Given the description of an element on the screen output the (x, y) to click on. 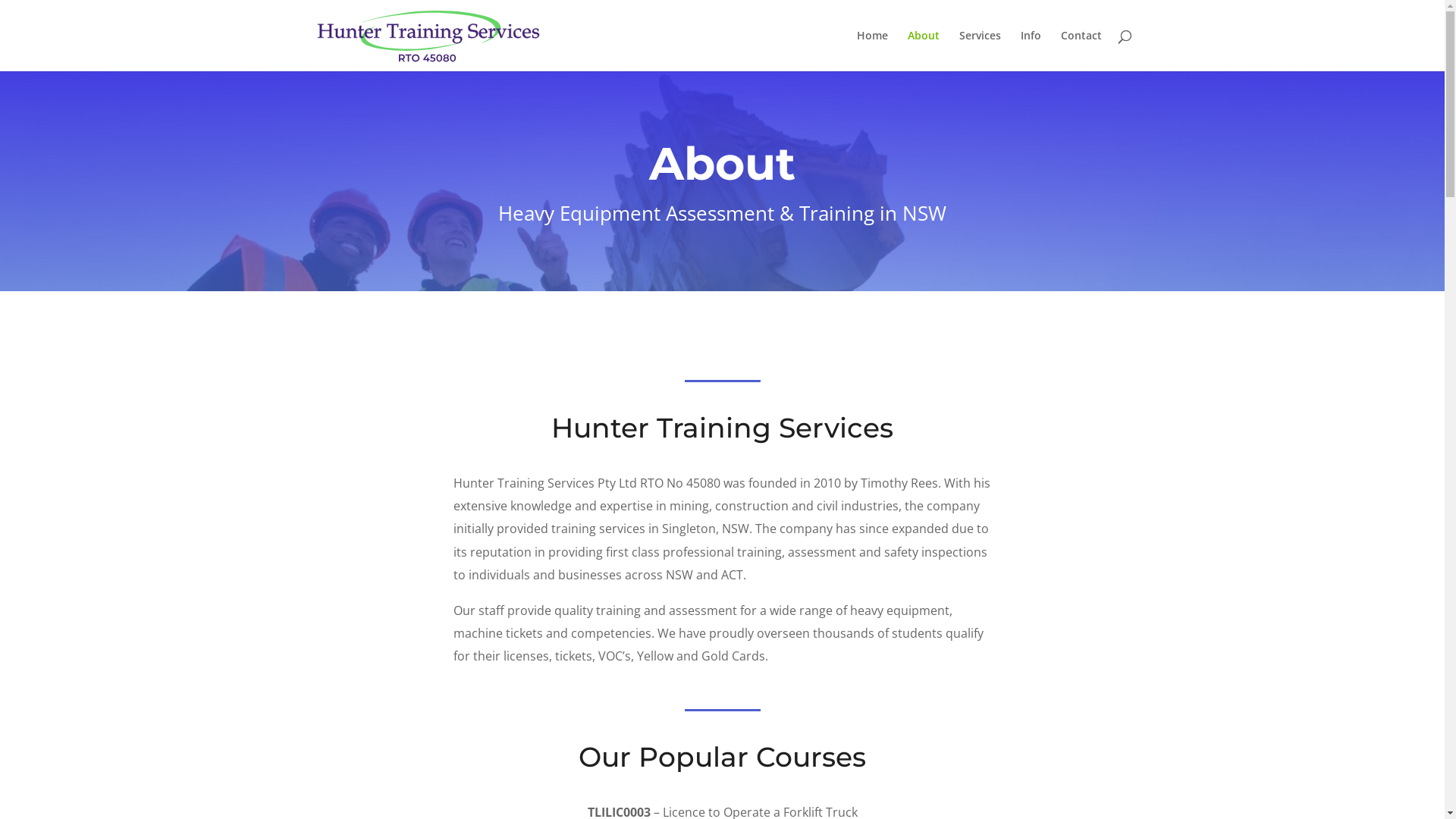
Home Element type: text (872, 50)
About Element type: text (922, 50)
Services Element type: text (979, 50)
Info Element type: text (1030, 50)
Contact Element type: text (1080, 50)
